Given the description of an element on the screen output the (x, y) to click on. 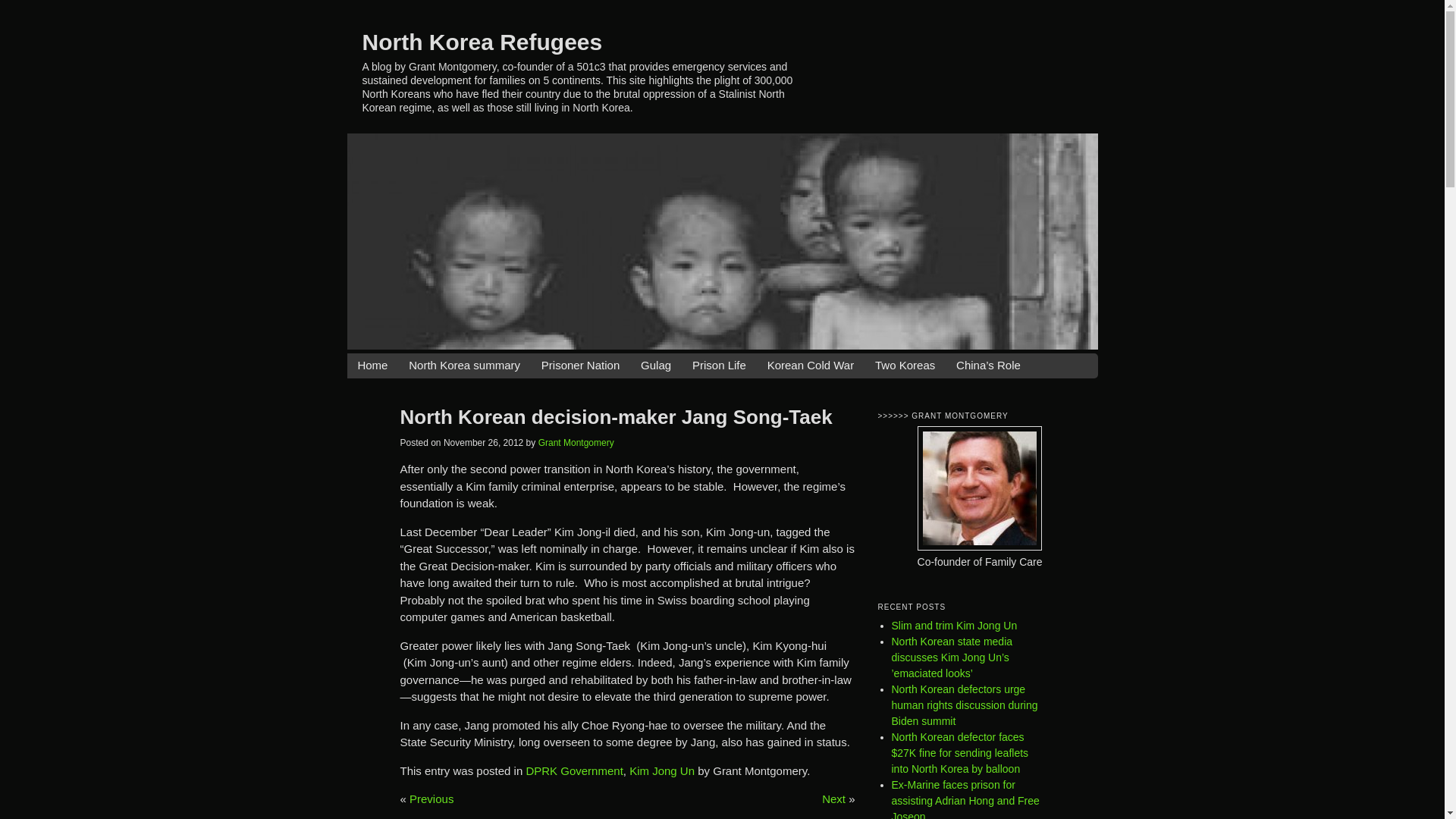
Next (833, 798)
Kim Jong Un (661, 770)
Previous (430, 798)
North Korea summary (464, 365)
Slim and trim Kim Jong Un (954, 625)
Grant Montgomery (576, 442)
Korean Cold War (810, 365)
Gulag (655, 365)
North Korea Refugees (482, 41)
